Given the description of an element on the screen output the (x, y) to click on. 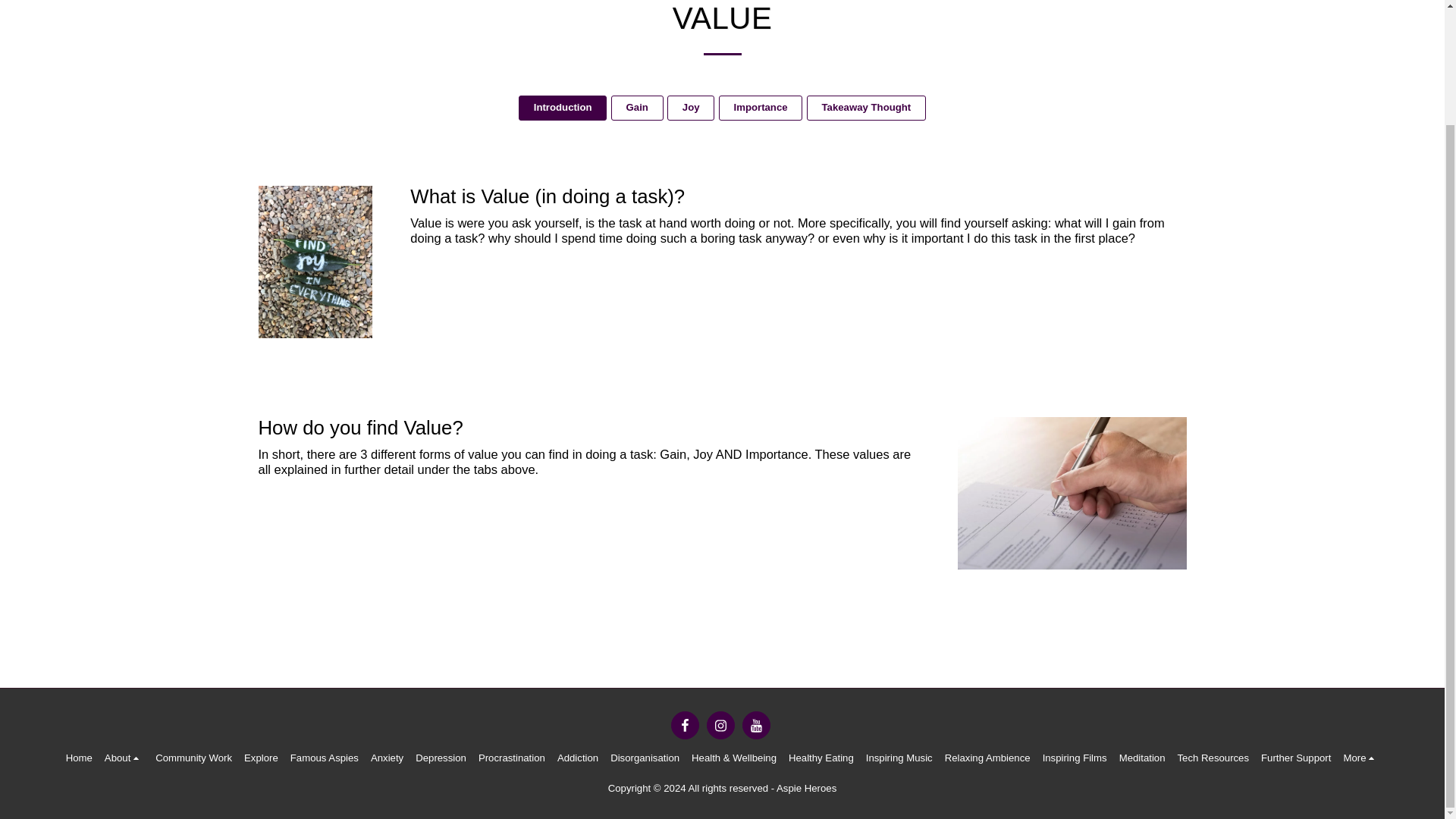
Takeaway Thought (866, 107)
Importance (760, 107)
Gain (637, 107)
Explore (261, 758)
Introduction (562, 107)
About   (123, 758)
Joy (690, 107)
Home (79, 758)
Community Work (193, 758)
